Given the description of an element on the screen output the (x, y) to click on. 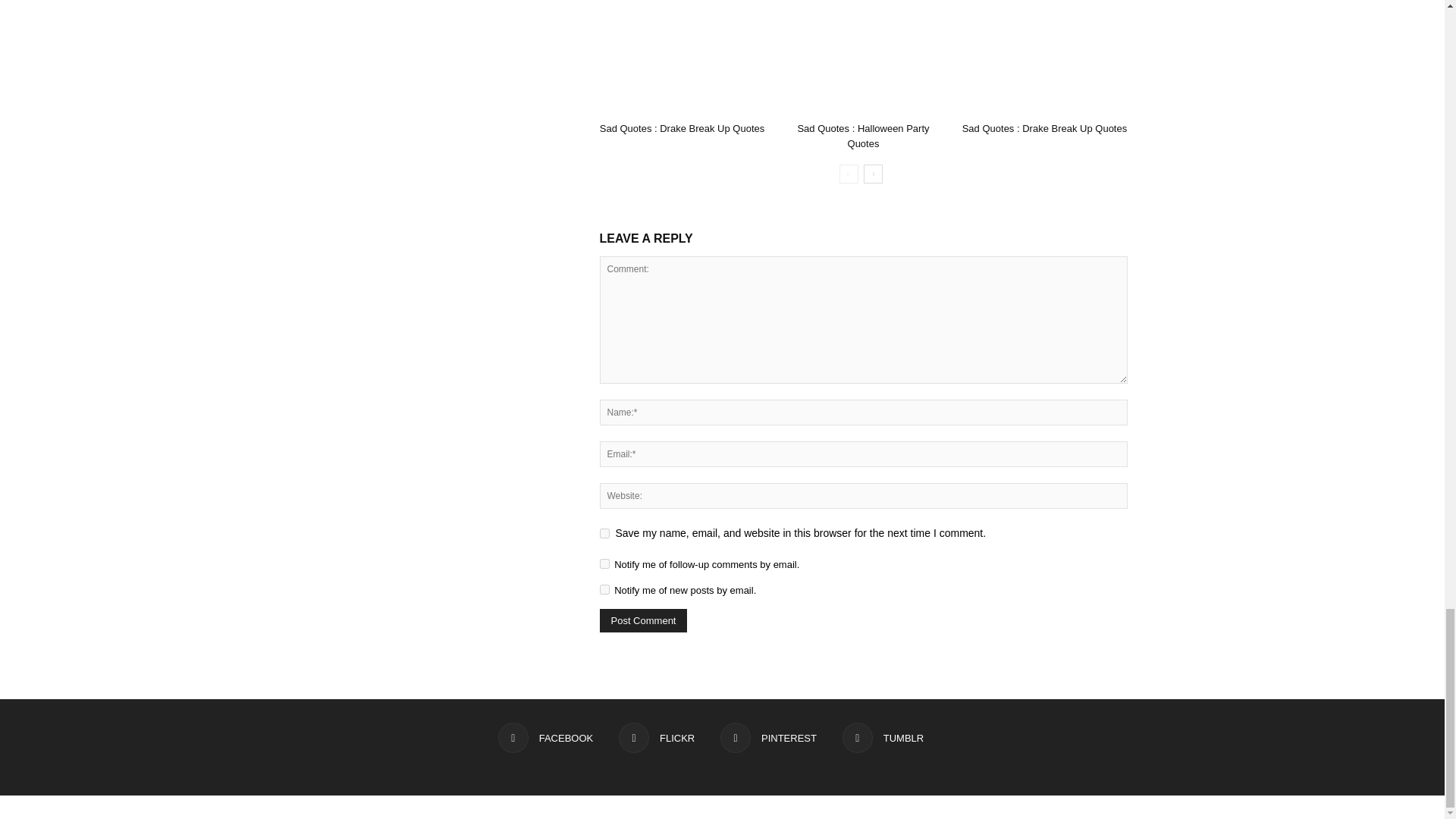
subscribe (603, 563)
yes (603, 533)
subscribe (603, 589)
Post Comment (642, 620)
